Given the description of an element on the screen output the (x, y) to click on. 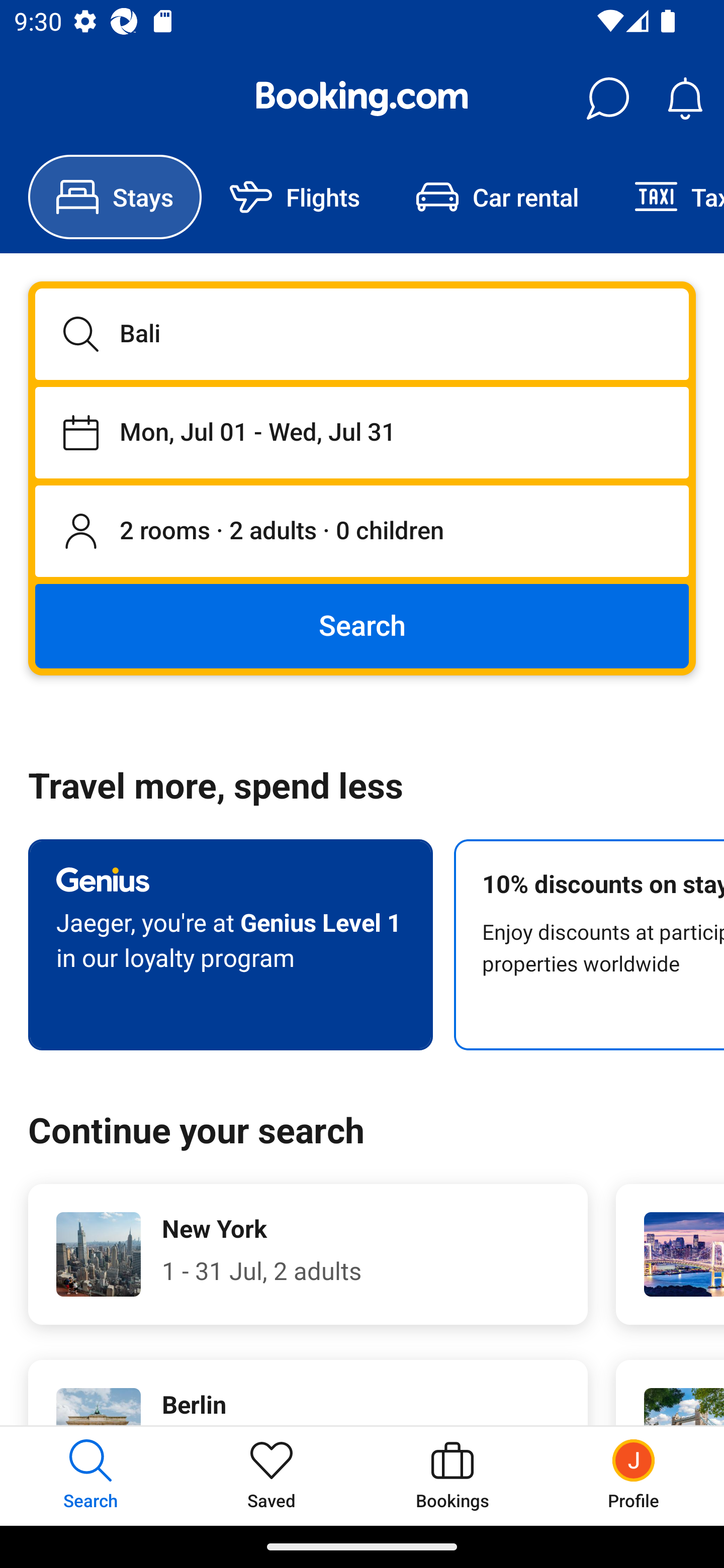
Messages (607, 98)
Notifications (685, 98)
Stays (114, 197)
Flights (294, 197)
Car rental (497, 197)
Taxi (665, 197)
Bali (361, 333)
Staying from Mon, Jul 01 until Wed, Jul 31 (361, 432)
2 rooms, 2 adults, 0 children (361, 531)
Search (361, 625)
New York 1 - 31 Jul, 2 adults (307, 1253)
Saved (271, 1475)
Bookings (452, 1475)
Profile (633, 1475)
